Given the description of an element on the screen output the (x, y) to click on. 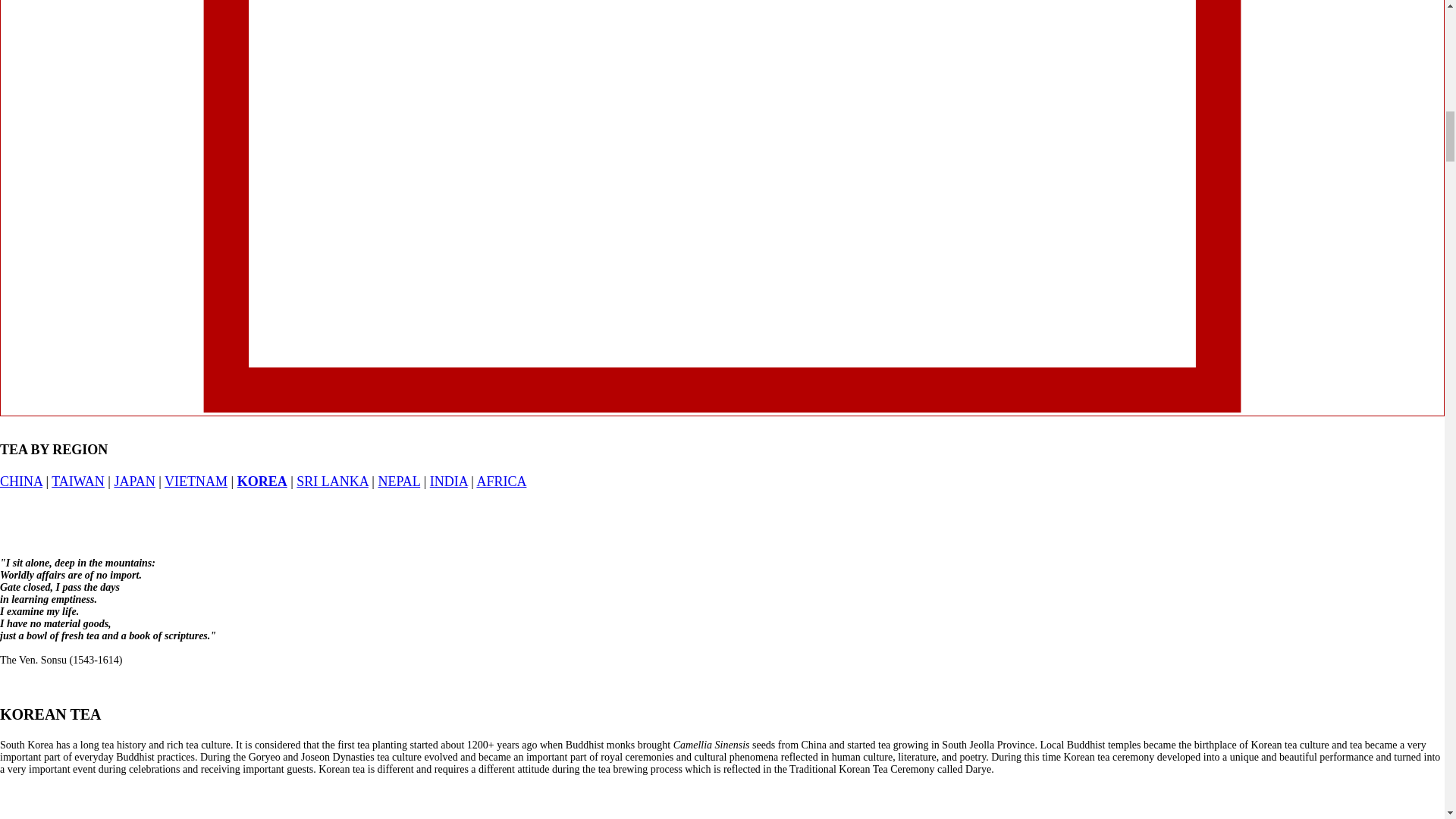
CHINA (21, 481)
TAIWAN (77, 481)
